Given the description of an element on the screen output the (x, y) to click on. 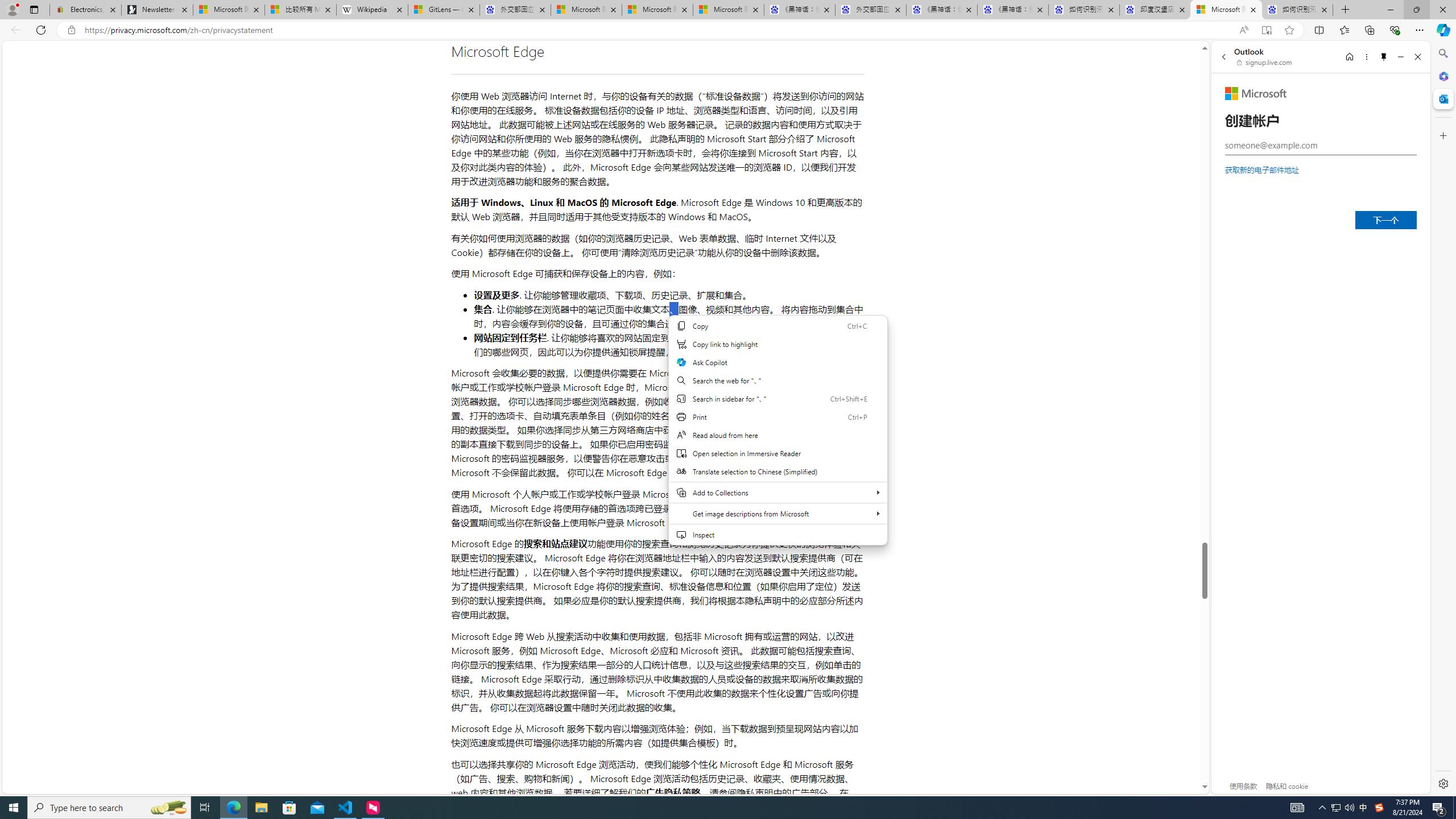
Microsoft (1255, 93)
Get image descriptions from Microsoft (777, 513)
Wikipedia (372, 9)
Translate selection to Chinese (Simplified) (777, 471)
Newsletter Sign Up (157, 9)
